Given the description of an element on the screen output the (x, y) to click on. 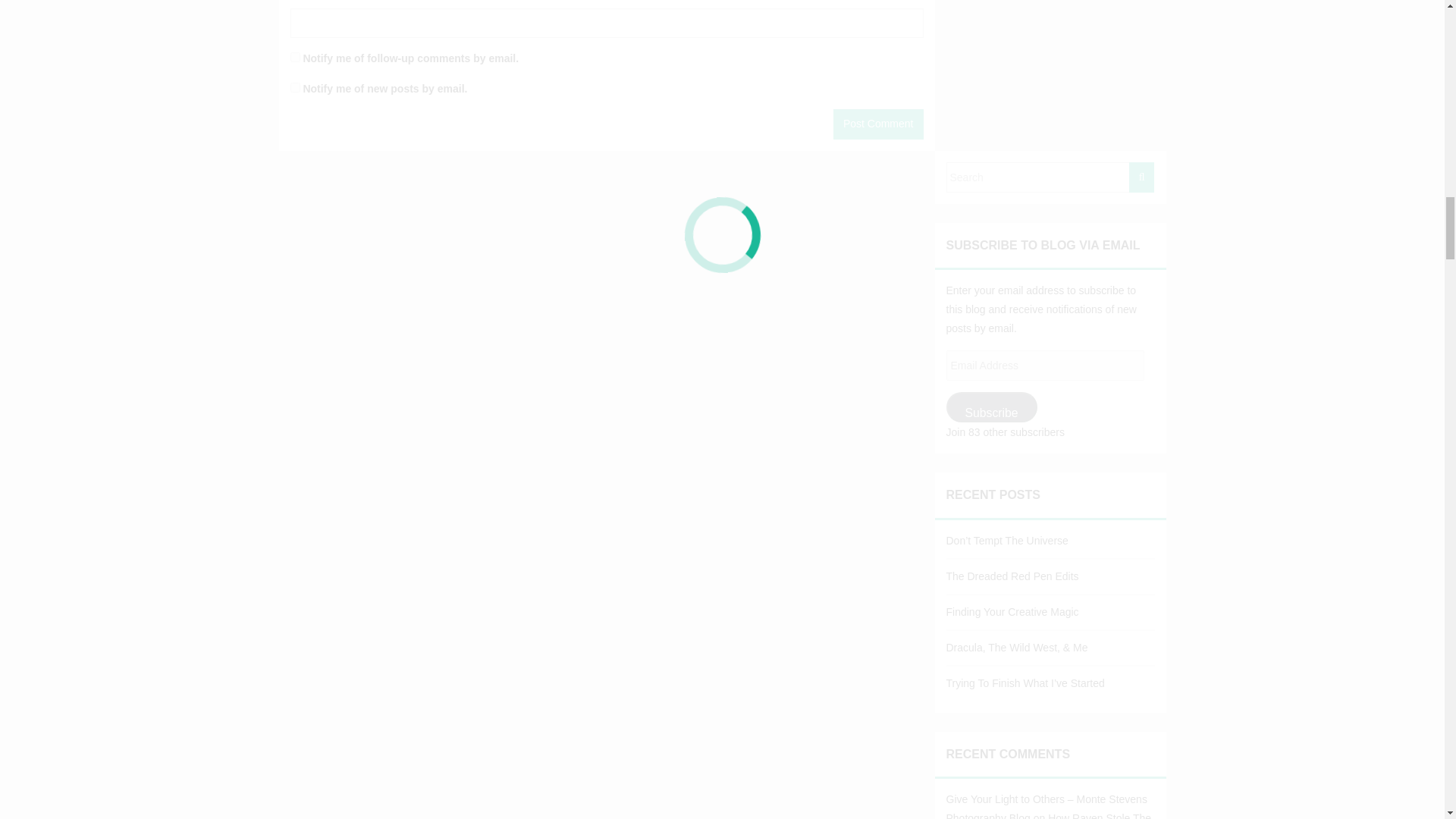
Post Comment (877, 123)
subscribe (294, 57)
subscribe (294, 87)
